Given the description of an element on the screen output the (x, y) to click on. 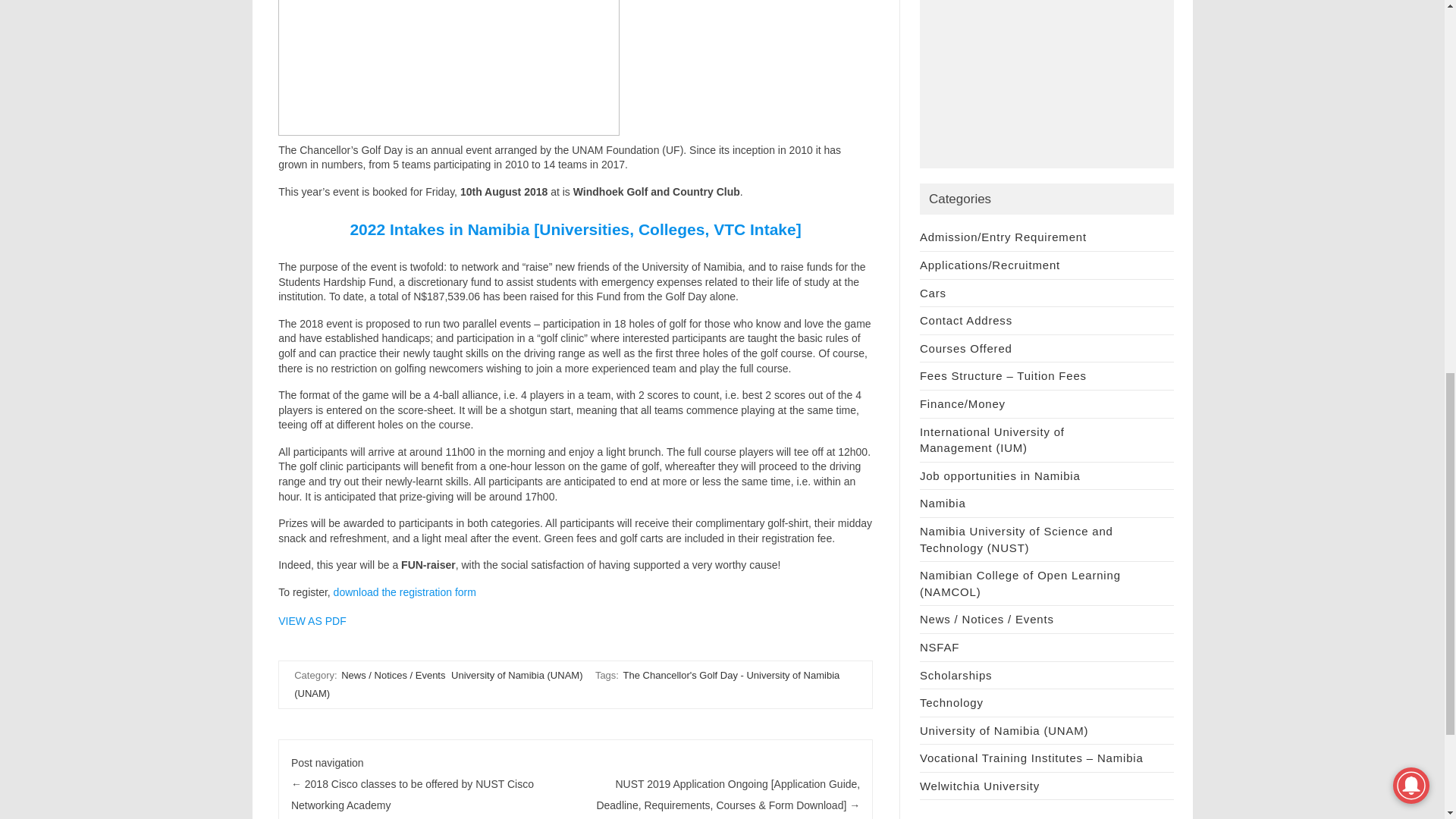
download the registration form (404, 592)
VIEW AS PDF (312, 621)
Advertisement (1046, 84)
